Given the description of an element on the screen output the (x, y) to click on. 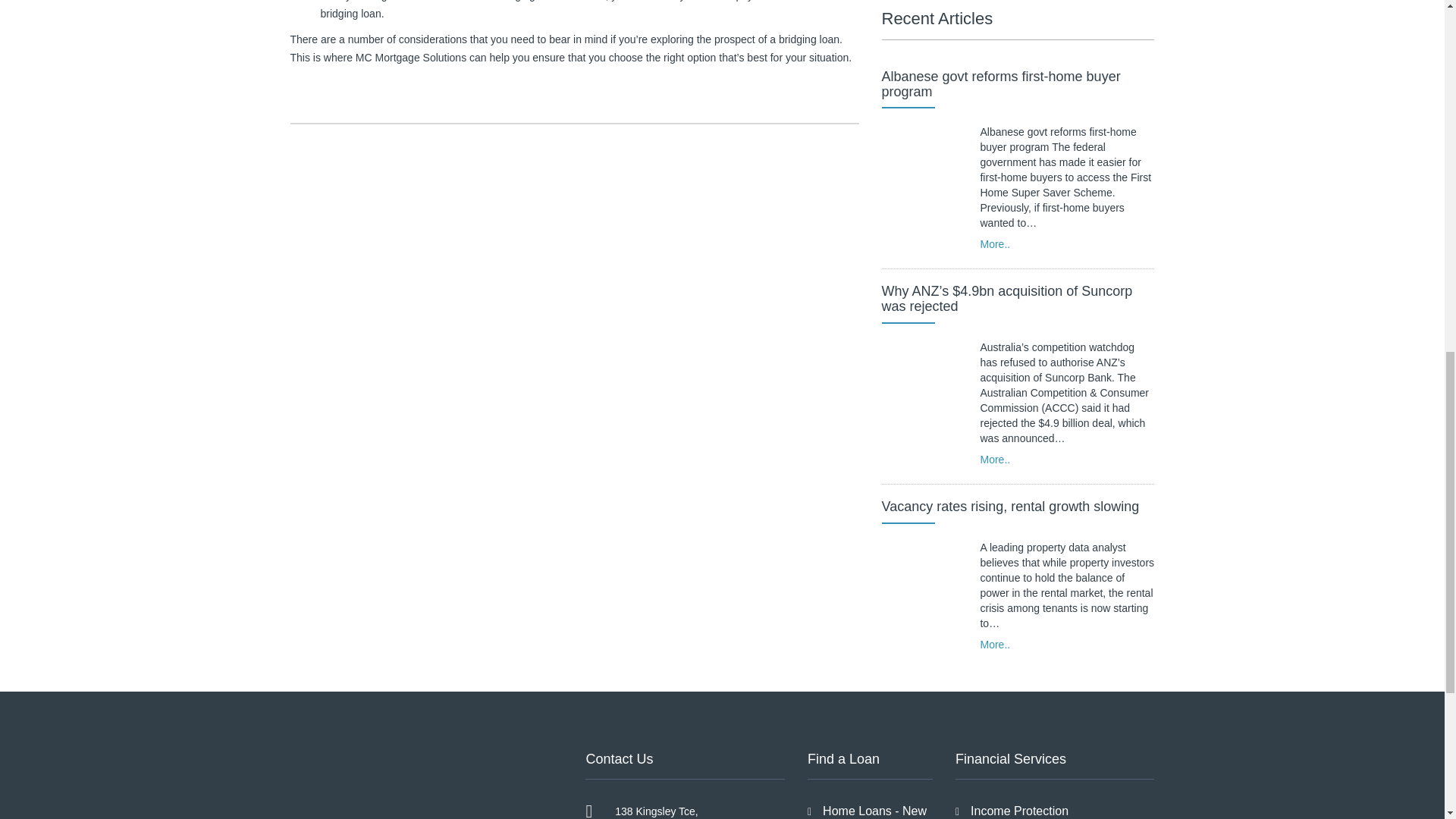
More.. (994, 459)
Home Loans - New Loans and Refinance Mortgage Broker (867, 811)
More.. (994, 244)
Income Protection (1019, 810)
More.. (994, 644)
